Given the description of an element on the screen output the (x, y) to click on. 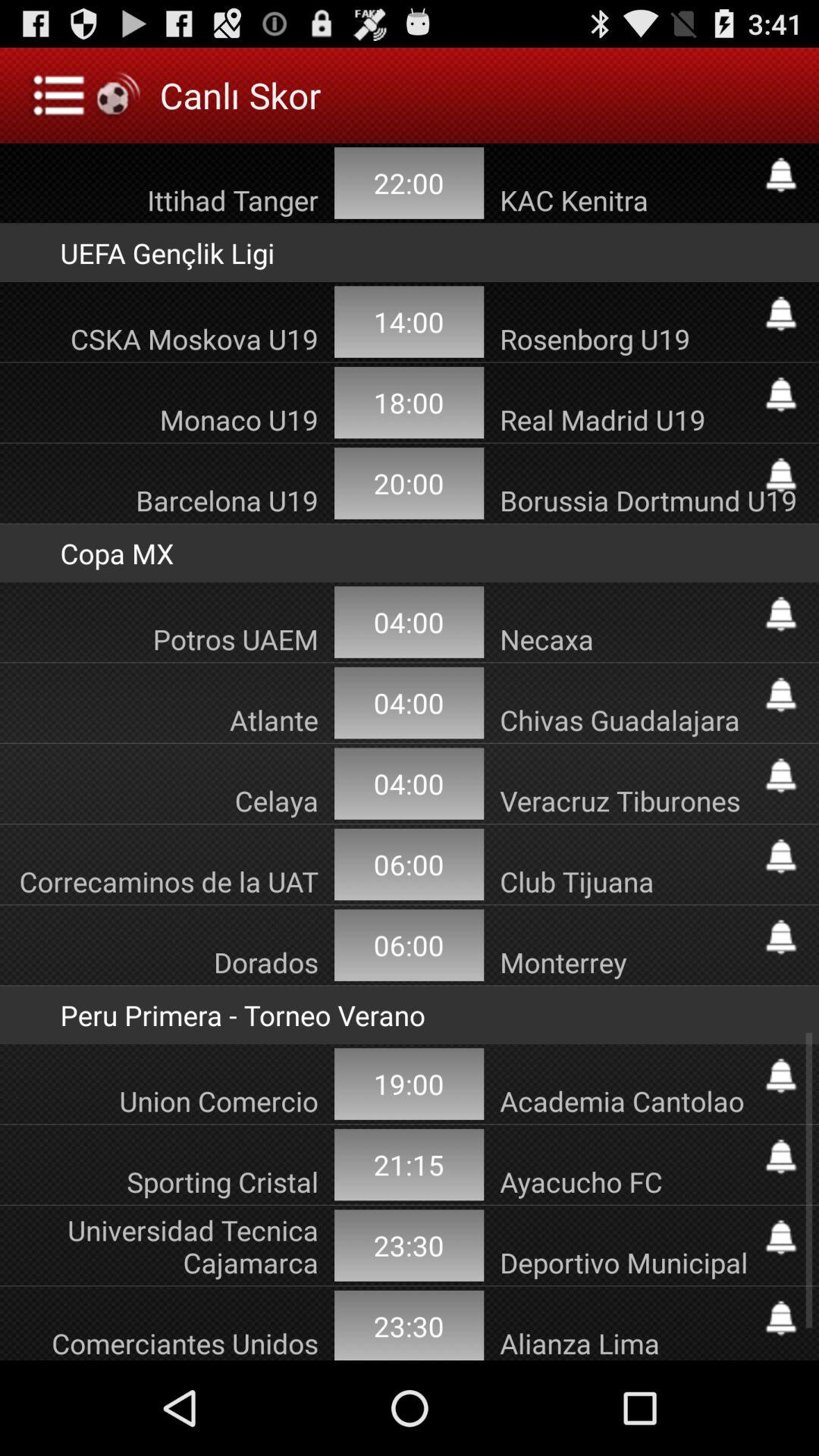
set alert (780, 775)
